Given the description of an element on the screen output the (x, y) to click on. 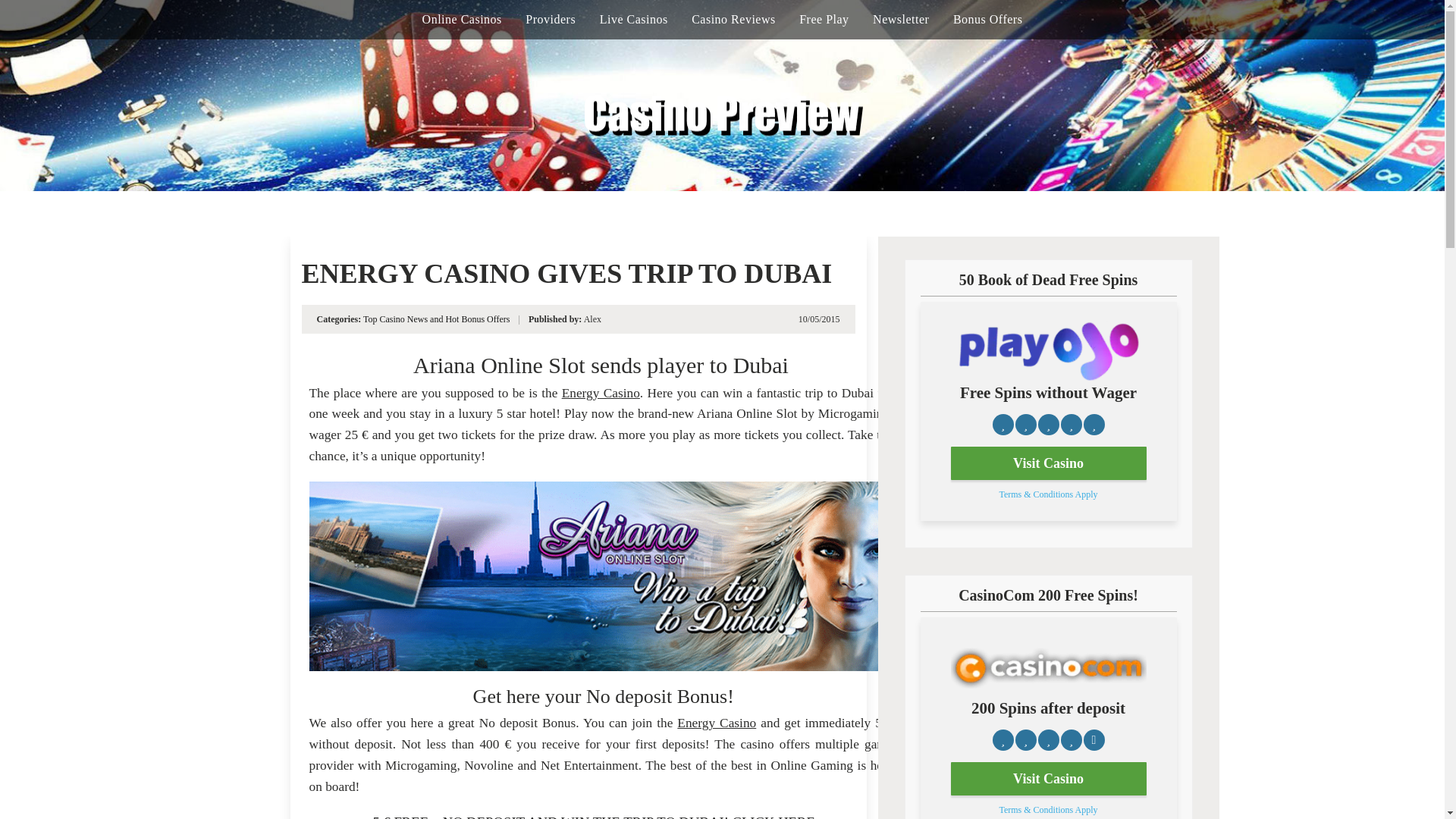
Casino Reviews (733, 19)
Live Casinos (633, 19)
Visit Casino (1048, 462)
Free Play (823, 19)
Visit Casino (1048, 778)
Play and Win the Trip here! (600, 575)
Top Casino News and Hot Bonus Offers (436, 318)
Providers (550, 19)
Energy Casino (716, 722)
Bonus Offers (987, 19)
Energy Casino (601, 392)
Newsletter (900, 19)
Online Casinos (462, 19)
